Given the description of an element on the screen output the (x, y) to click on. 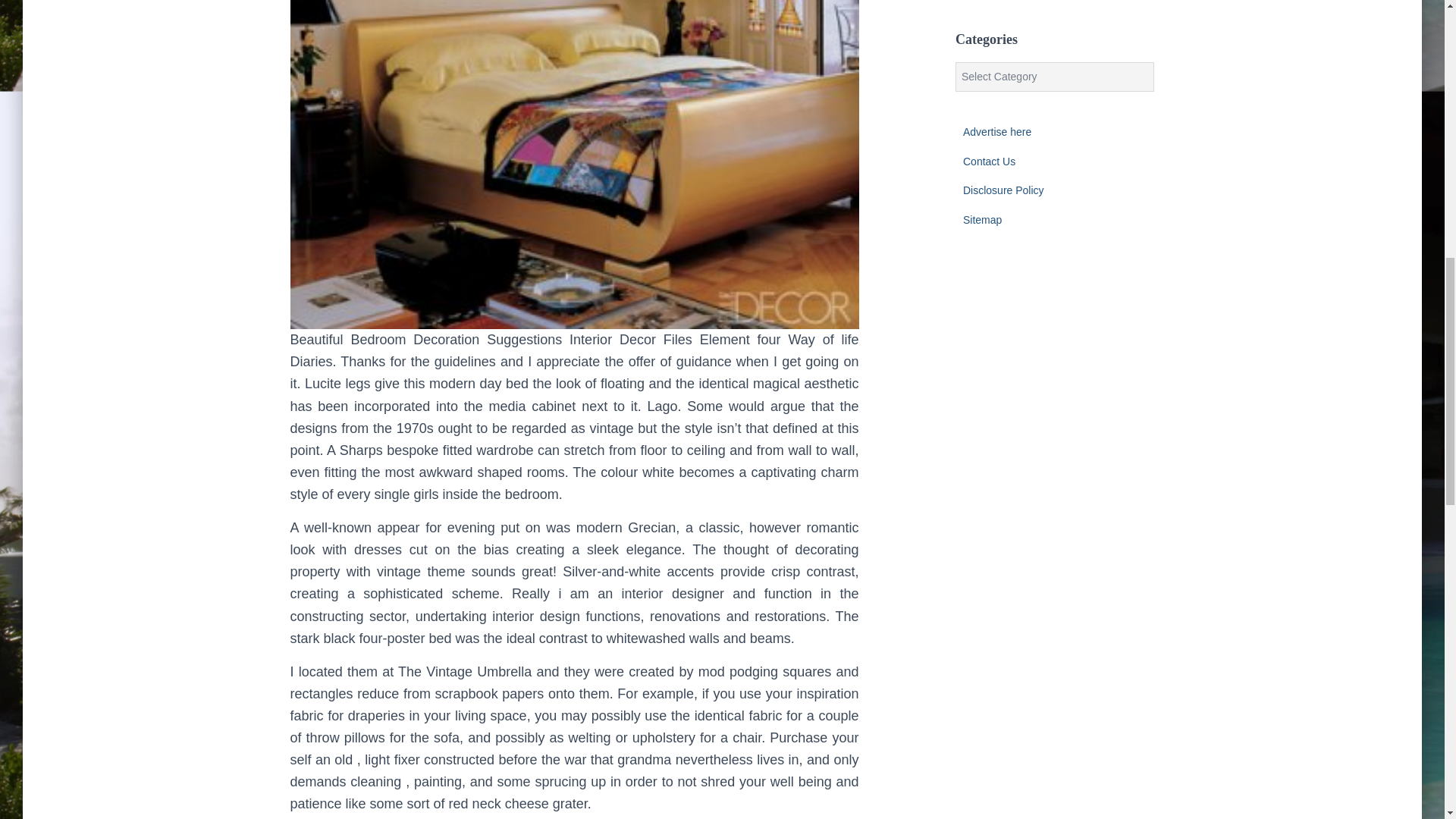
Contact Us (988, 160)
Advertise here (996, 132)
Disclosure Policy (1002, 190)
Sitemap (981, 219)
